Given the description of an element on the screen output the (x, y) to click on. 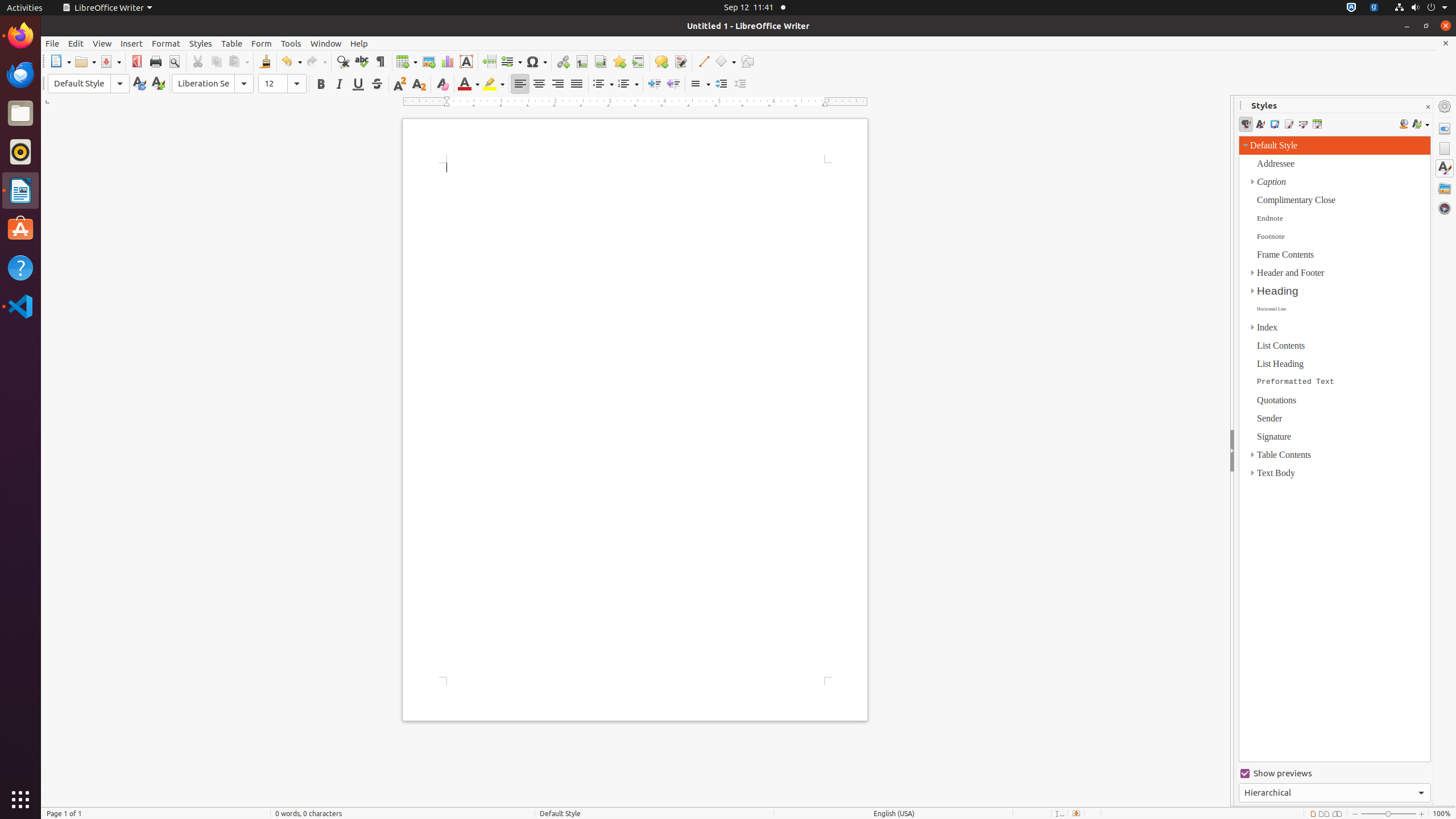
Track Changes Functions Element type: toggle-button (679, 61)
Styles Element type: radio-button (1444, 168)
Horizontal Ruler Element type: ruler (635, 101)
Edit Element type: menu (75, 43)
Style List Element type: tree (1334, 448)
